Given the description of an element on the screen output the (x, y) to click on. 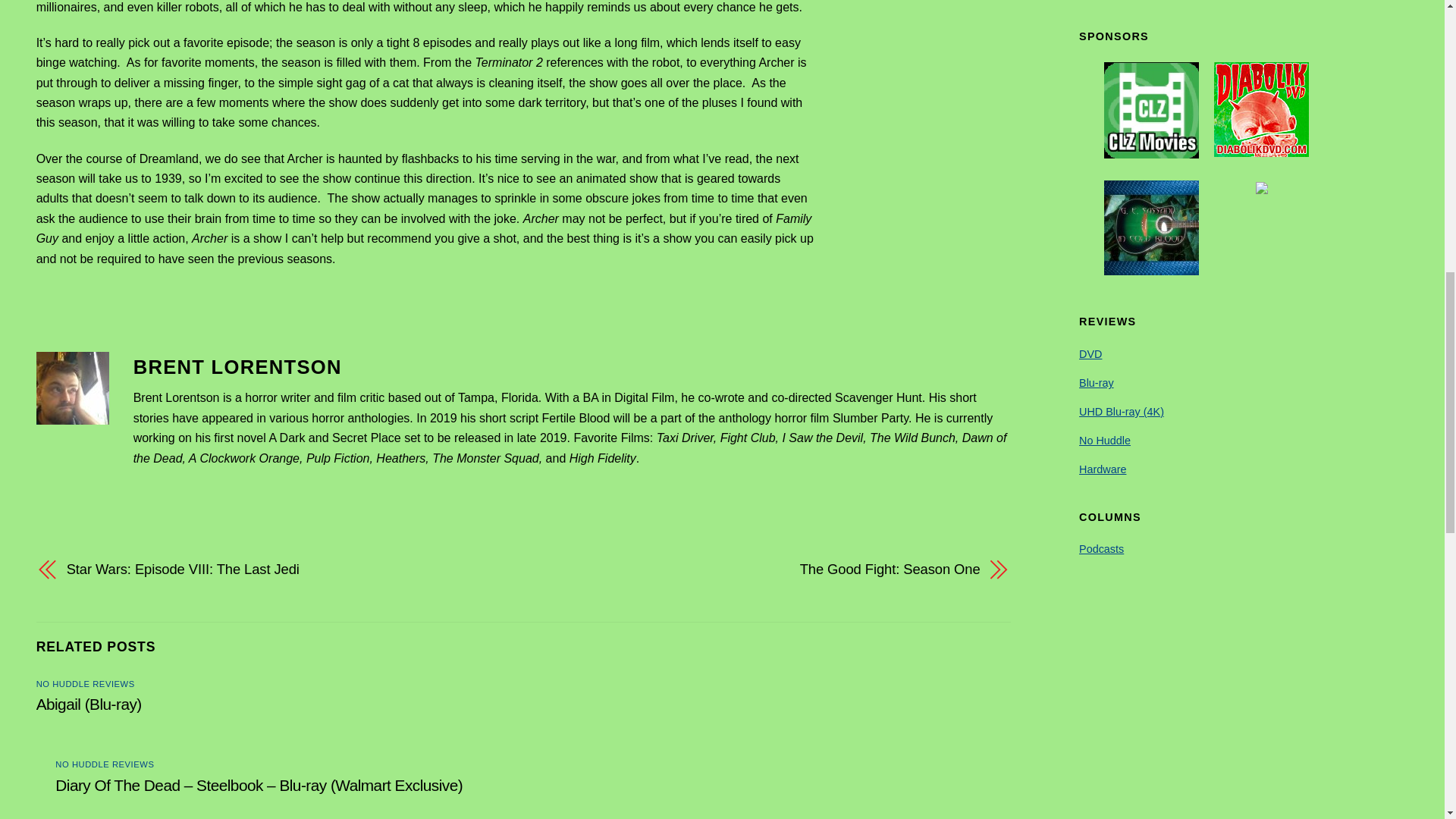
Star Wars: Episode VIII: The Last Jedi (280, 569)
DVD (1090, 354)
Blu-ray (1095, 382)
No Huddle (1104, 440)
Hardware (1101, 469)
The Good Fight: Season One (766, 569)
NO HUDDLE REVIEWS (85, 683)
NO HUDDLE REVIEWS (104, 764)
Podcasts (1101, 548)
